Given the description of an element on the screen output the (x, y) to click on. 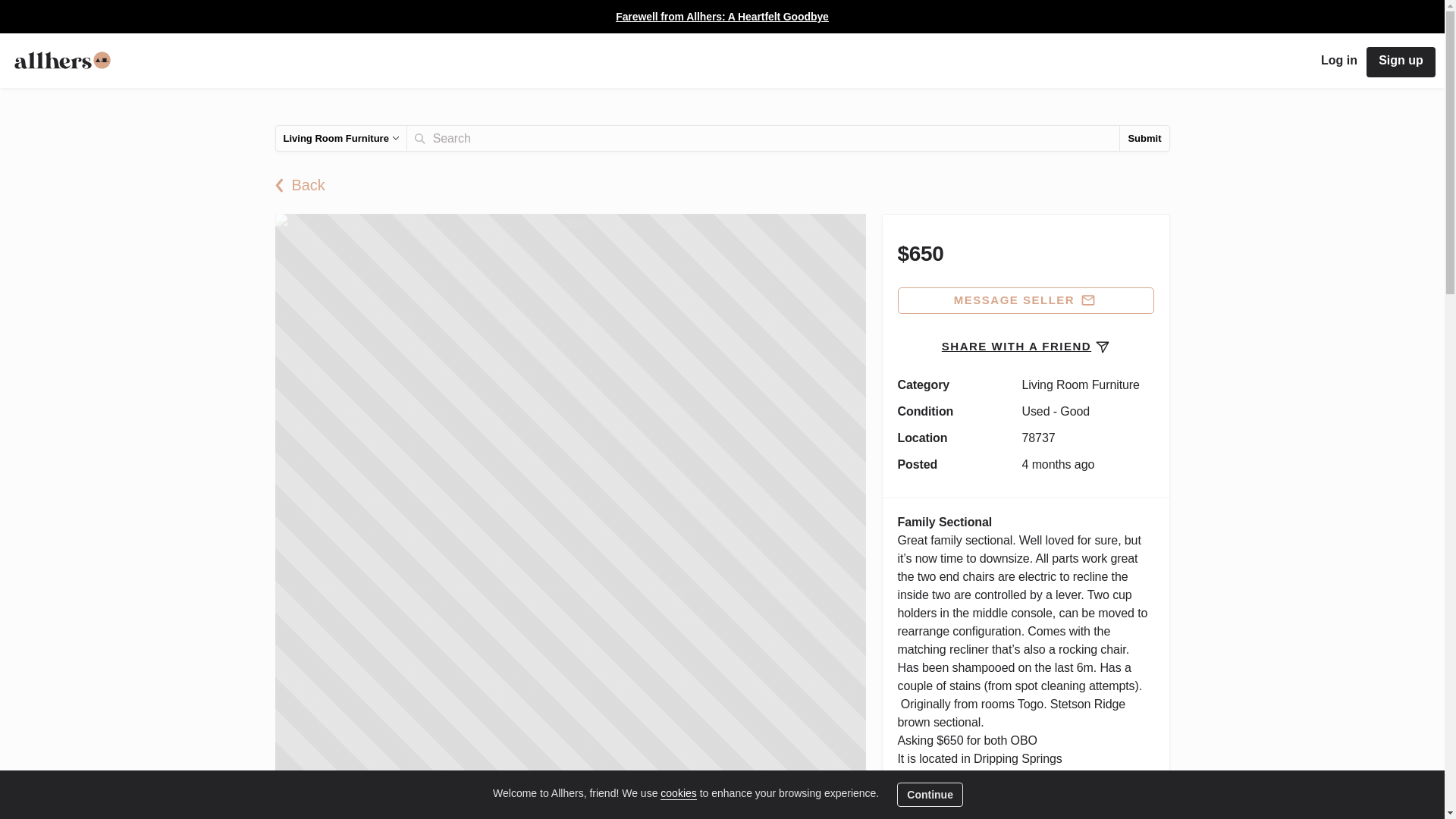
Sign up (1401, 61)
Continue (929, 794)
cookies (678, 793)
Wren F (955, 814)
Submit (1144, 138)
Wren F (913, 815)
Log in (1339, 60)
Farewell from Allhers: A Heartfelt Goodbye (721, 16)
